Given the description of an element on the screen output the (x, y) to click on. 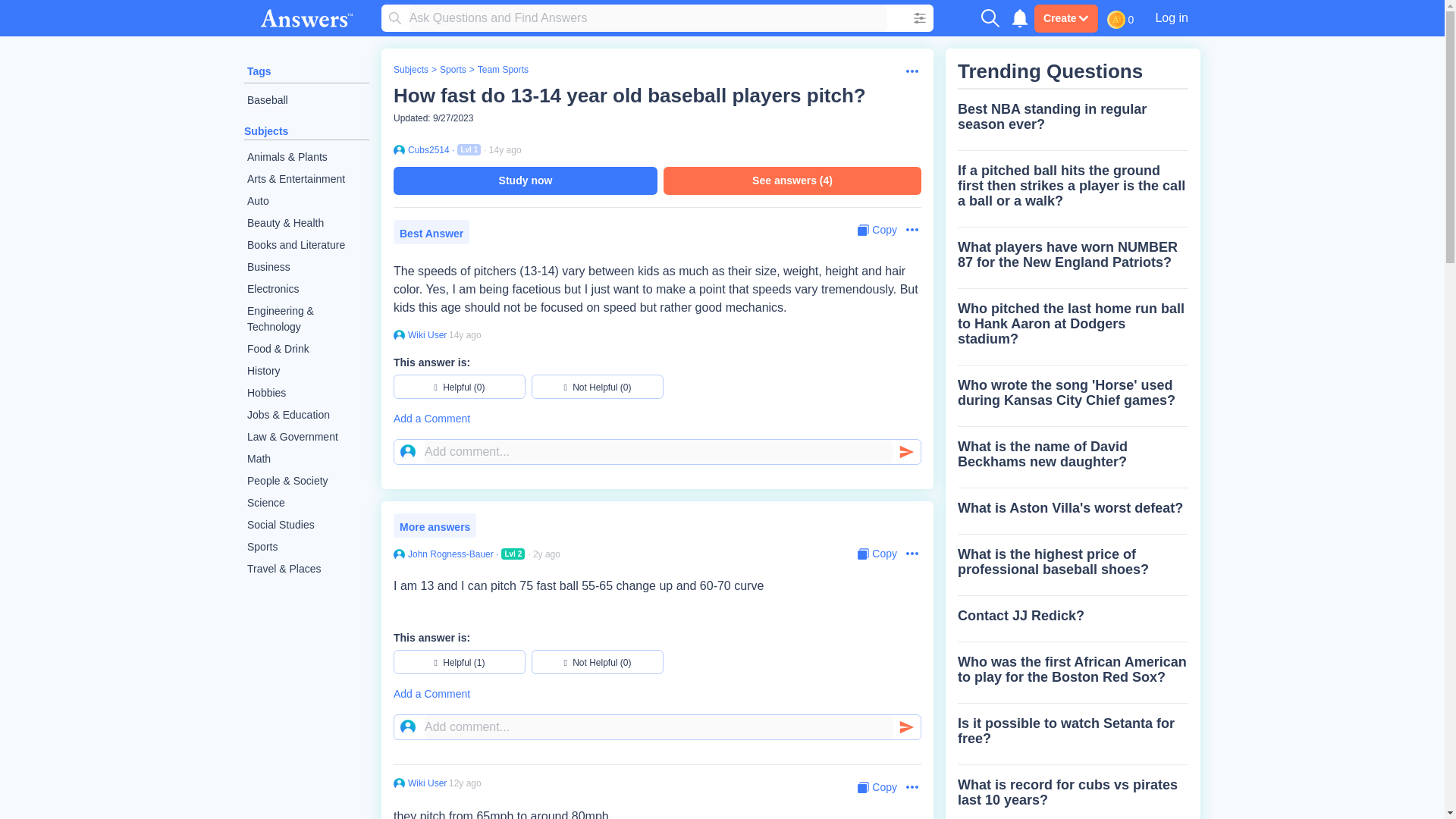
Hobbies (306, 393)
History (306, 371)
Create (1065, 18)
Subjects (410, 69)
Auto (306, 201)
Sports (452, 69)
Copy (876, 553)
How fast do 13-14 year old baseball players pitch? (629, 95)
Add a Comment (657, 418)
Log in (1170, 17)
